Given the description of an element on the screen output the (x, y) to click on. 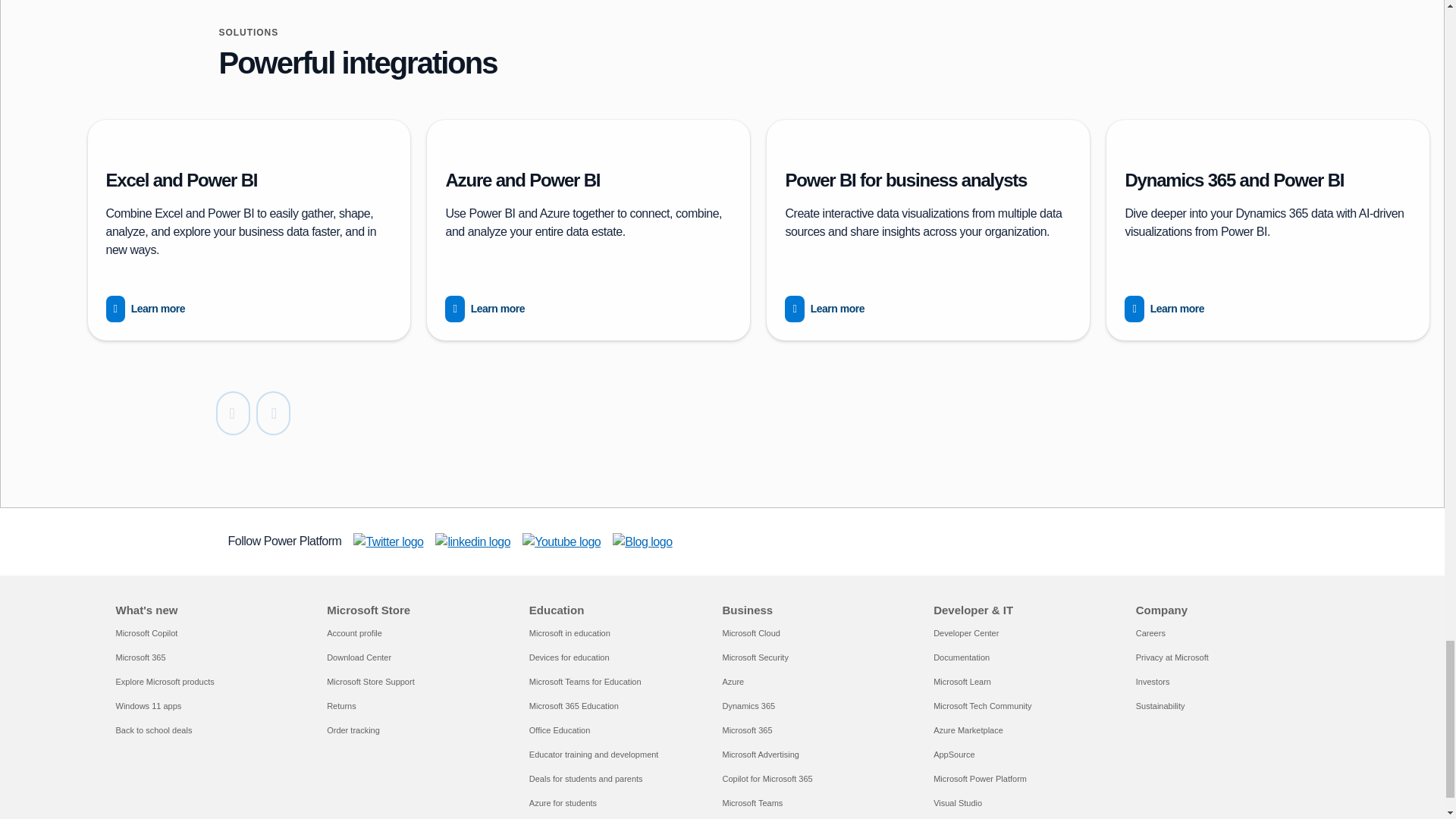
Youtube (560, 542)
Linkedin (473, 542)
Twitter (388, 542)
Blog (641, 542)
